Given the description of an element on the screen output the (x, y) to click on. 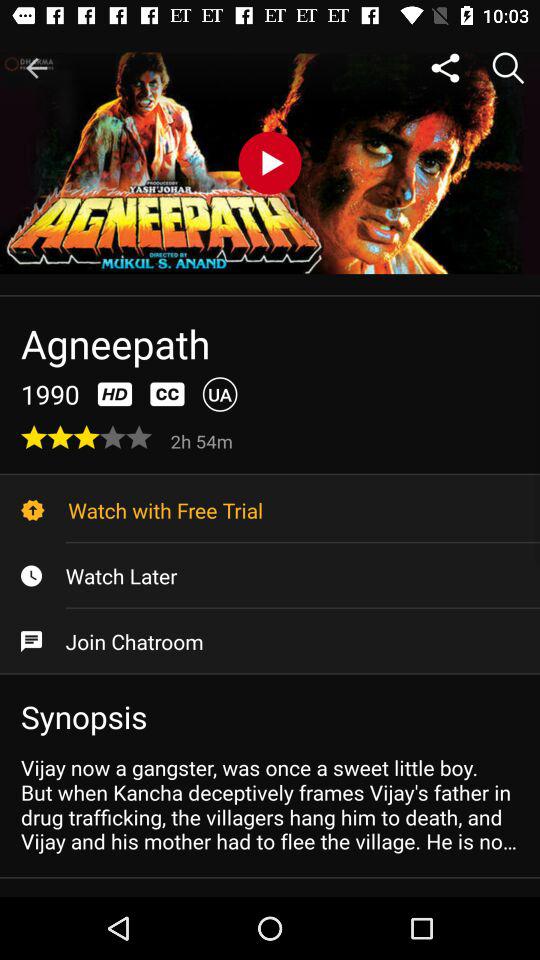
swipe until watch with free icon (270, 510)
